Given the description of an element on the screen output the (x, y) to click on. 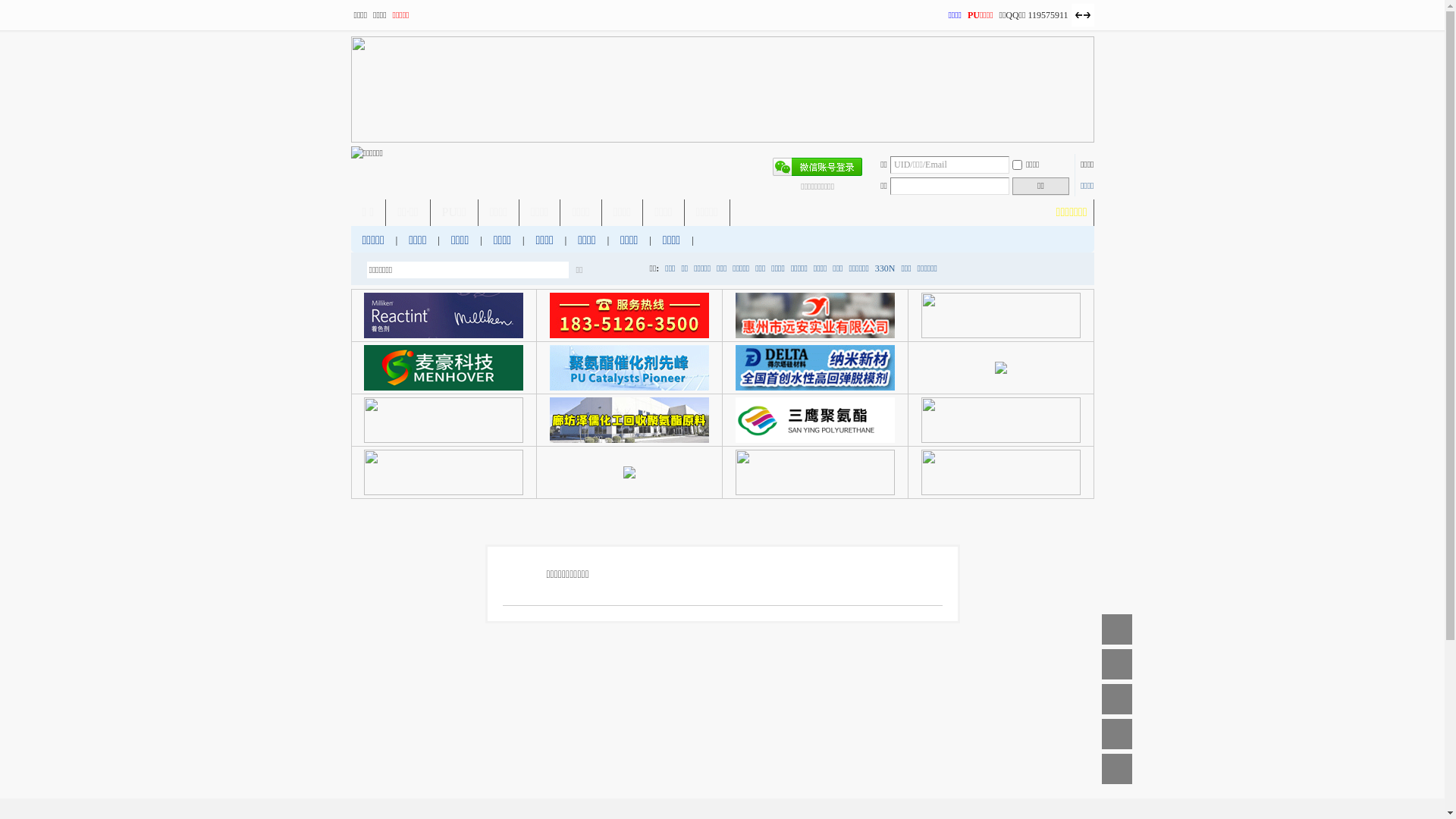
!jz_lxwm! Element type: hover (1116, 629)
!jz_fenx! Element type: hover (1116, 664)
!jz_grzx! Element type: hover (1116, 768)
true Element type: text (625, 269)
!jz_gzwx! Element type: hover (1116, 699)
330N Element type: text (885, 268)
QR Code Element type: hover (1116, 733)
